Given the description of an element on the screen output the (x, y) to click on. 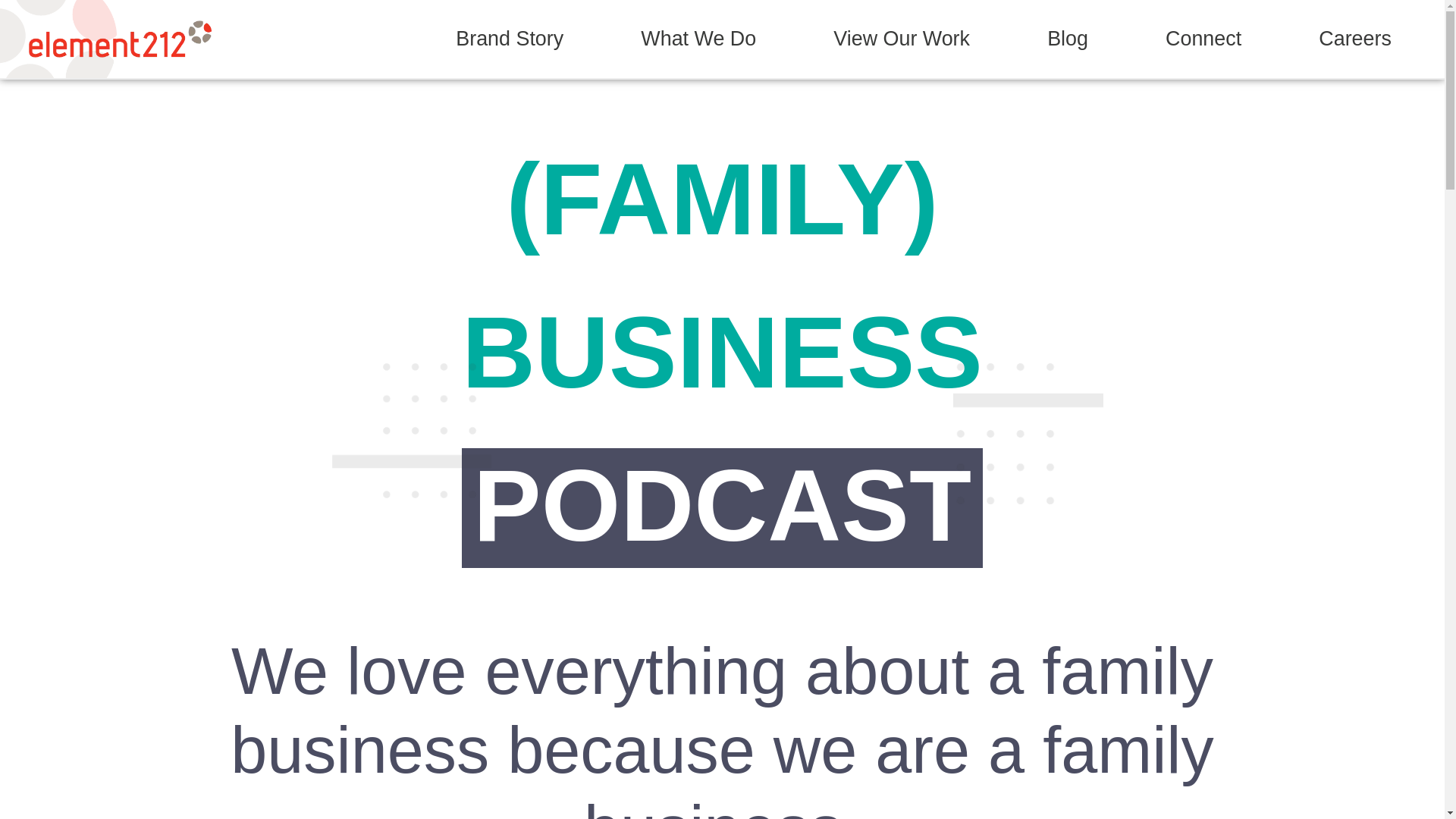
Brand Story (509, 38)
View Our Work (901, 38)
Careers (1354, 38)
Connect (1202, 38)
Blog (1067, 38)
What We Do (698, 38)
